Given the description of an element on the screen output the (x, y) to click on. 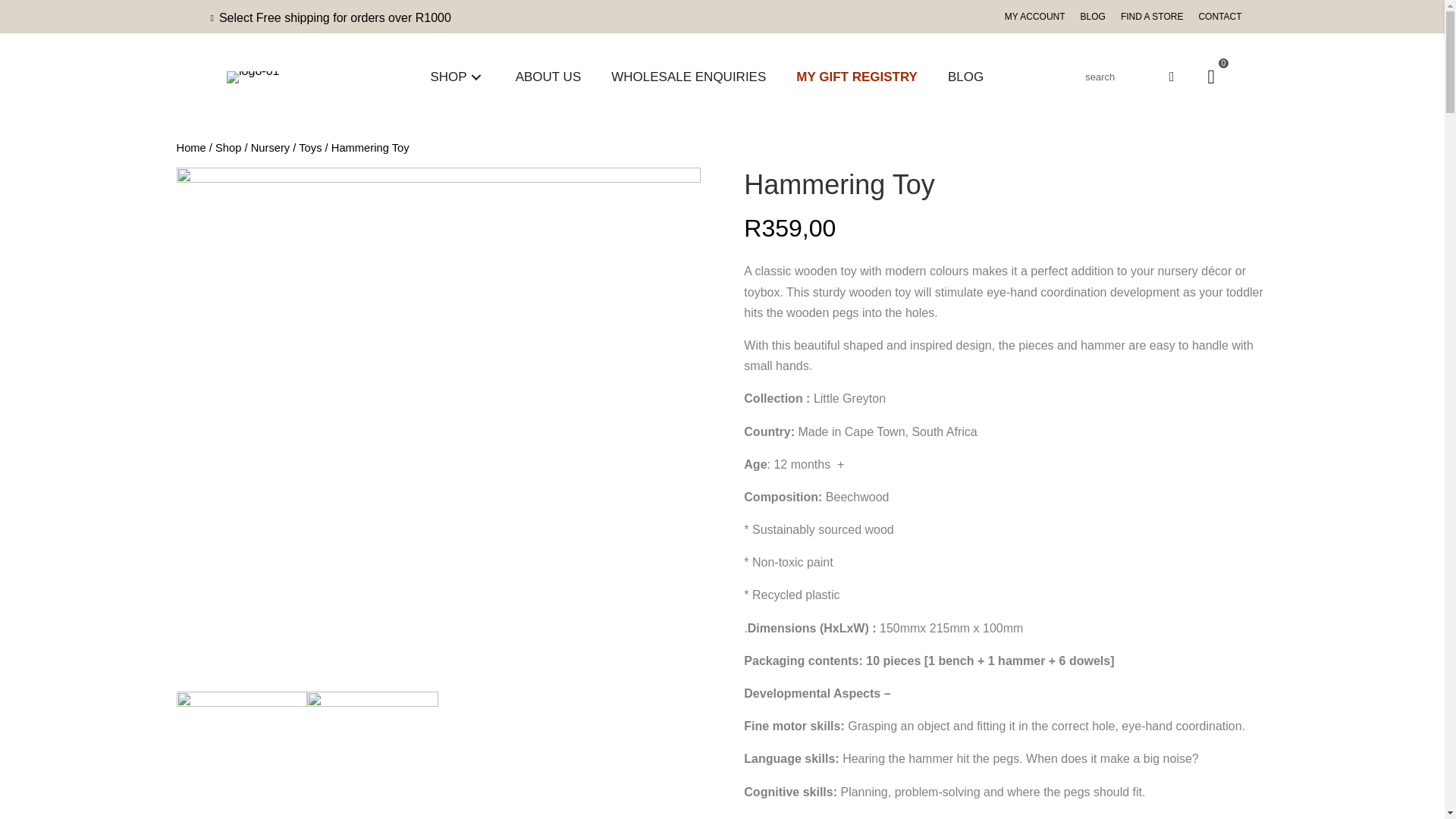
FIND A STORE (1152, 16)
CONTACT (1220, 16)
MY GIFT REGISTRY (856, 76)
BLOG (1093, 16)
ABOUT US (548, 76)
Search (1117, 76)
WHOLESALE ENQUIRIES (688, 76)
Shop (228, 147)
logo-01 (253, 77)
BLOG (965, 76)
Home (190, 147)
SHOP (457, 76)
MY ACCOUNT (1035, 16)
